Given the description of an element on the screen output the (x, y) to click on. 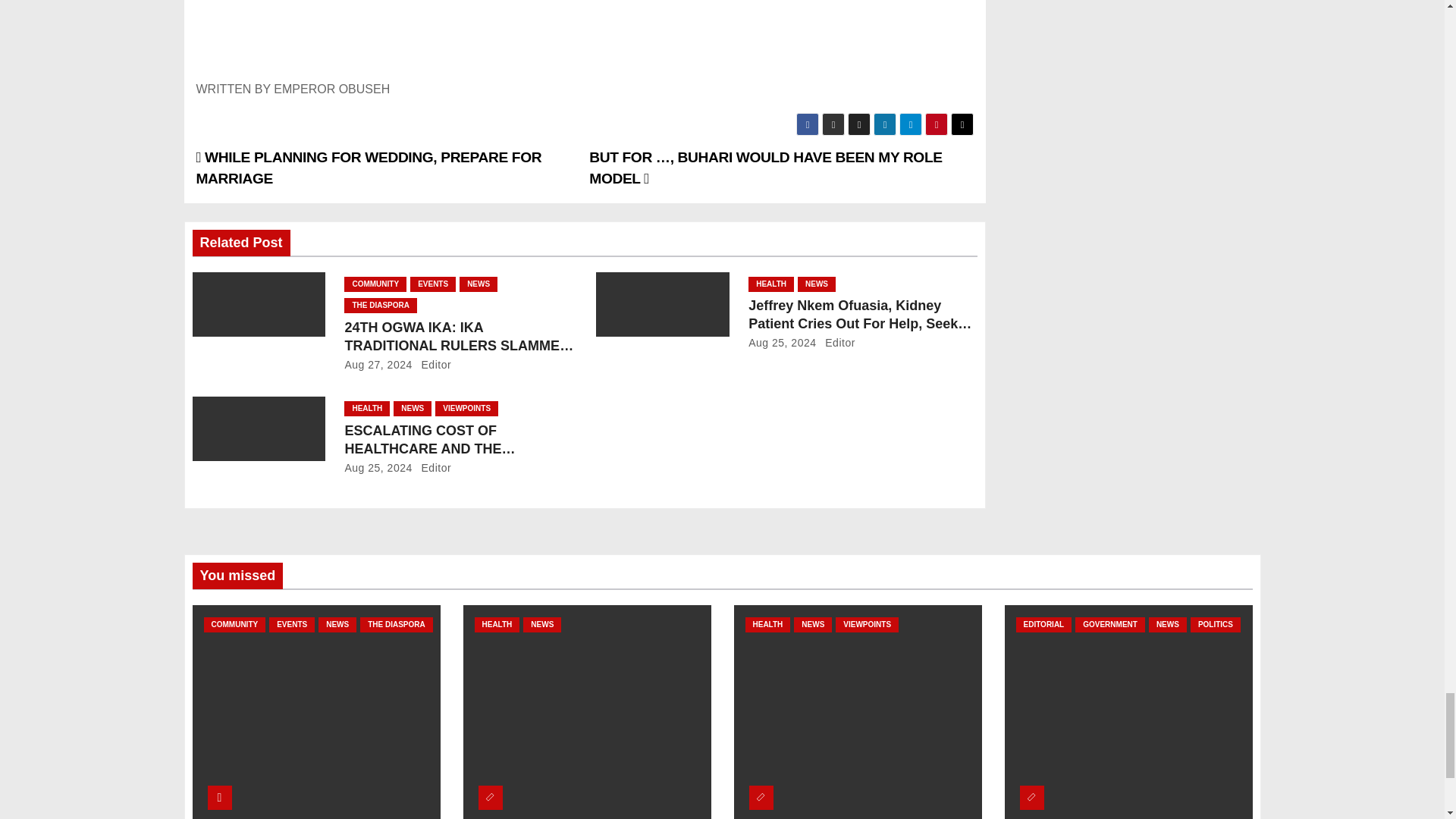
WHILE PLANNING FOR WEDDING, PREPARE FOR MARRIAGE (368, 167)
